Given the description of an element on the screen output the (x, y) to click on. 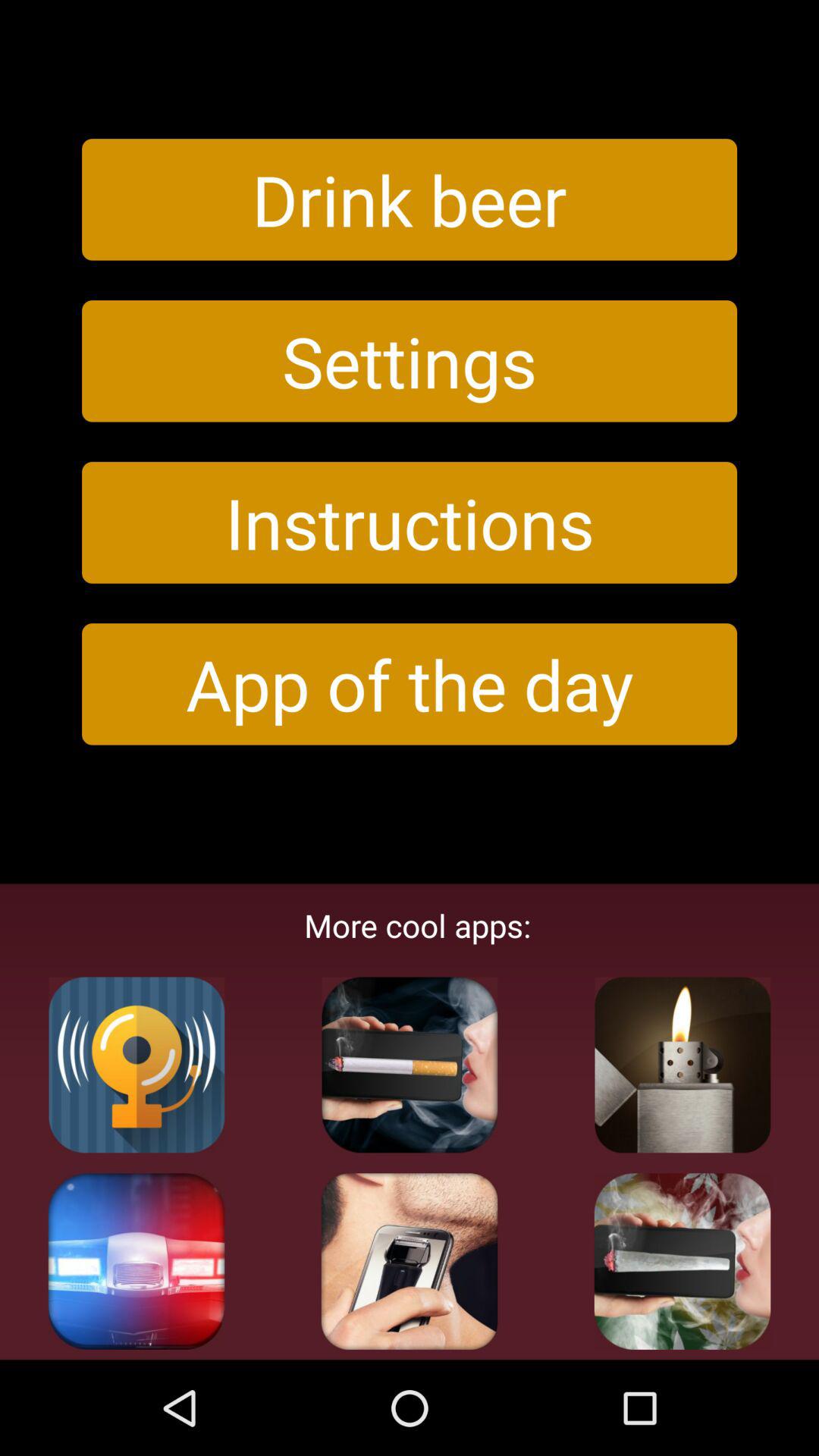
turn off the icon above the settings button (409, 199)
